Given the description of an element on the screen output the (x, y) to click on. 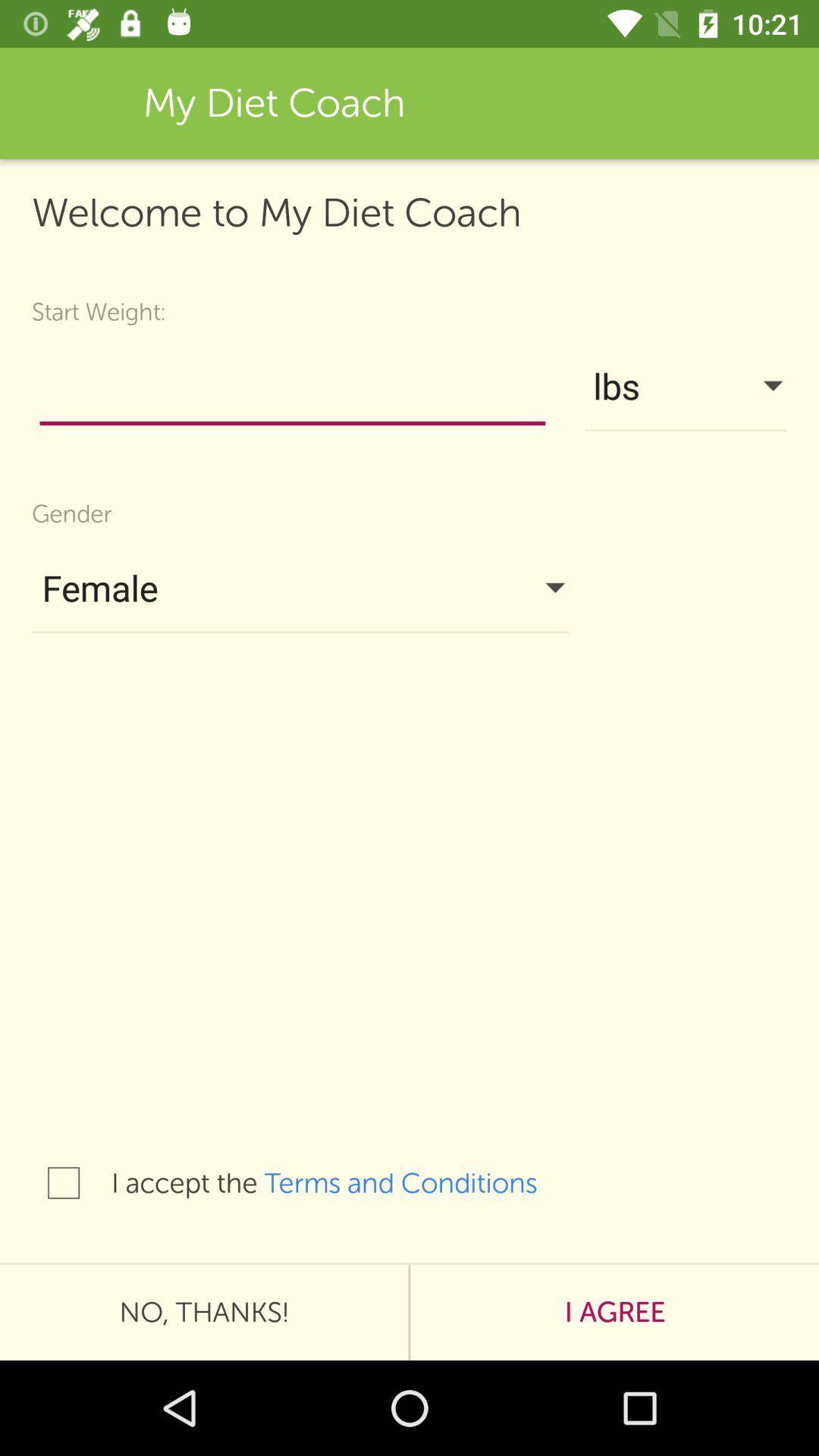
choose the no, thanks! (204, 1312)
